Given the description of an element on the screen output the (x, y) to click on. 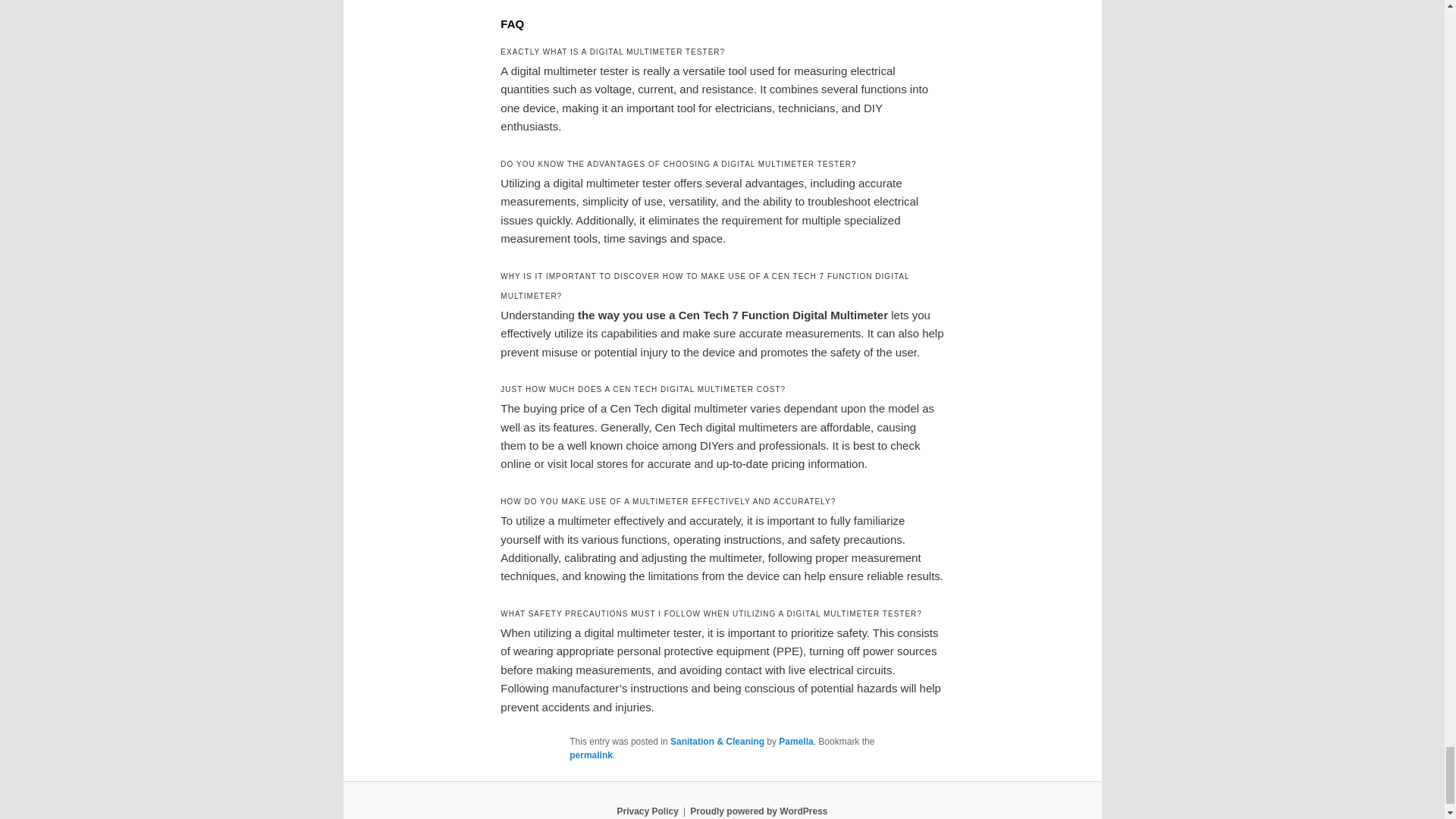
permalink (590, 755)
Privacy Policy (646, 810)
Proudly powered by WordPress (758, 810)
Pamella (795, 741)
Semantic Personal Publishing Platform (758, 810)
